Given the description of an element on the screen output the (x, y) to click on. 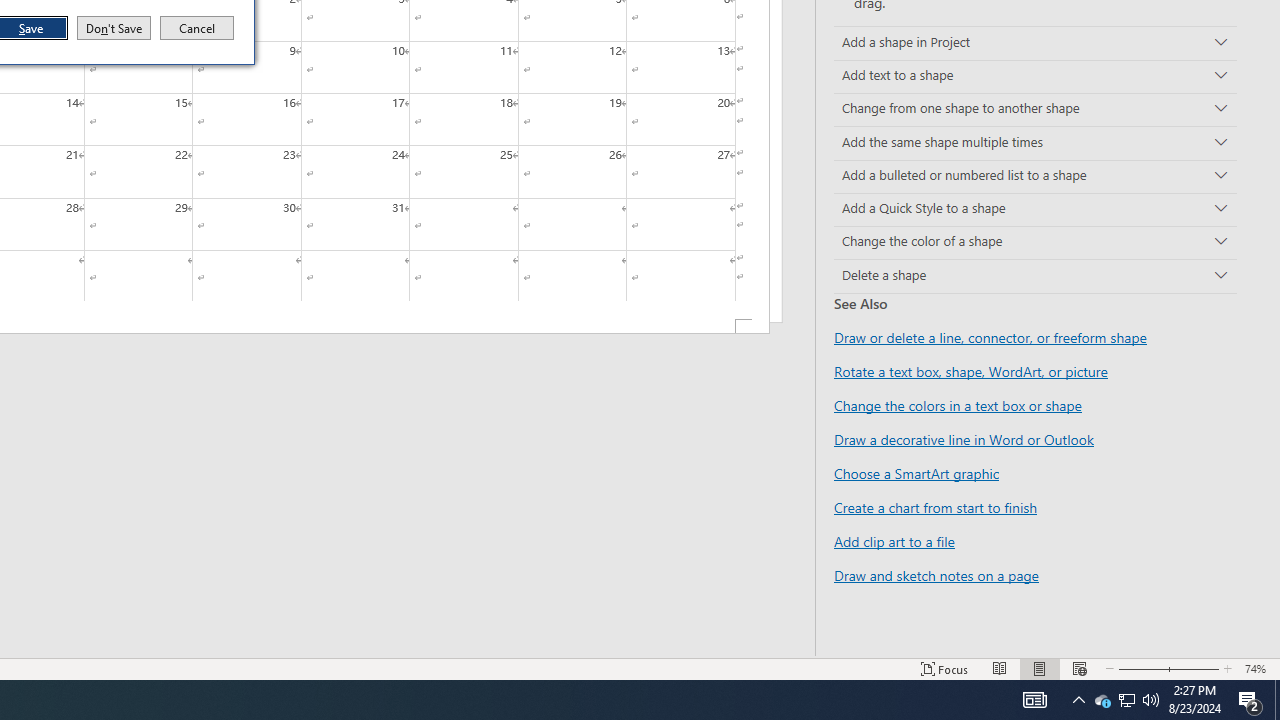
Add a bulleted or numbered list to a shape (1035, 176)
Zoom In (1188, 668)
Action Center, 2 new notifications (1250, 699)
Notification Chevron (1078, 699)
Choose a SmartArt graphic (916, 473)
Create a chart from start to finish (935, 507)
Draw and sketch notes on a page (936, 574)
Change the color of a shape (1035, 242)
Rotate a text box, shape, WordArt, or picture (971, 371)
Zoom Out (1135, 668)
Q2790: 100% (1151, 699)
Add the same shape multiple times (1035, 142)
Print Layout (1039, 668)
